Given the description of an element on the screen output the (x, y) to click on. 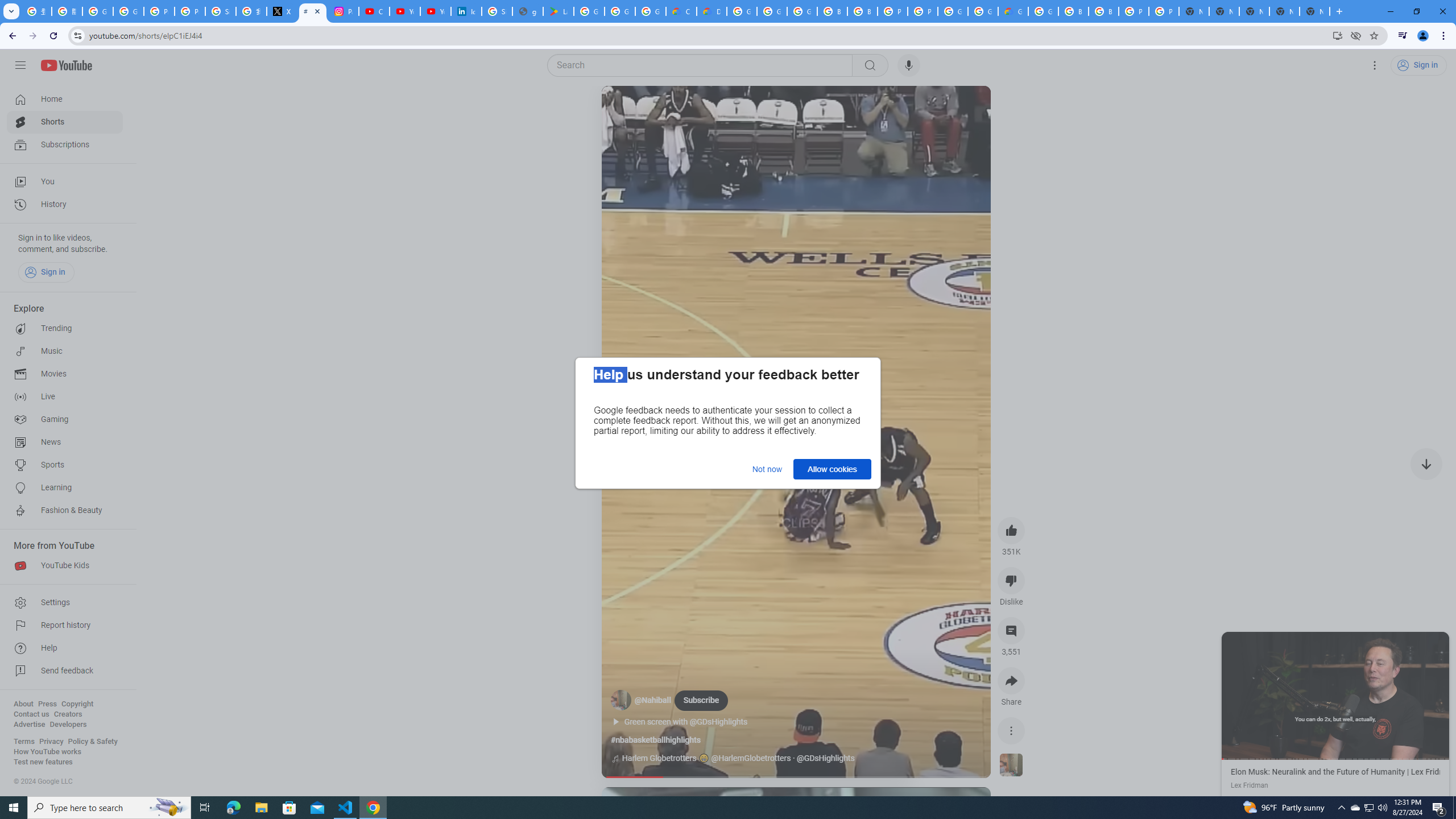
Allow cookies (831, 468)
Privacy Help Center - Policies Help (158, 11)
YouTube Kids (64, 565)
Copyright (77, 703)
Press (46, 703)
Test new features (42, 761)
Shorts (64, 121)
Creators (67, 714)
Next (SHIFT+n) (1392, 694)
Sports (64, 464)
